Given the description of an element on the screen output the (x, y) to click on. 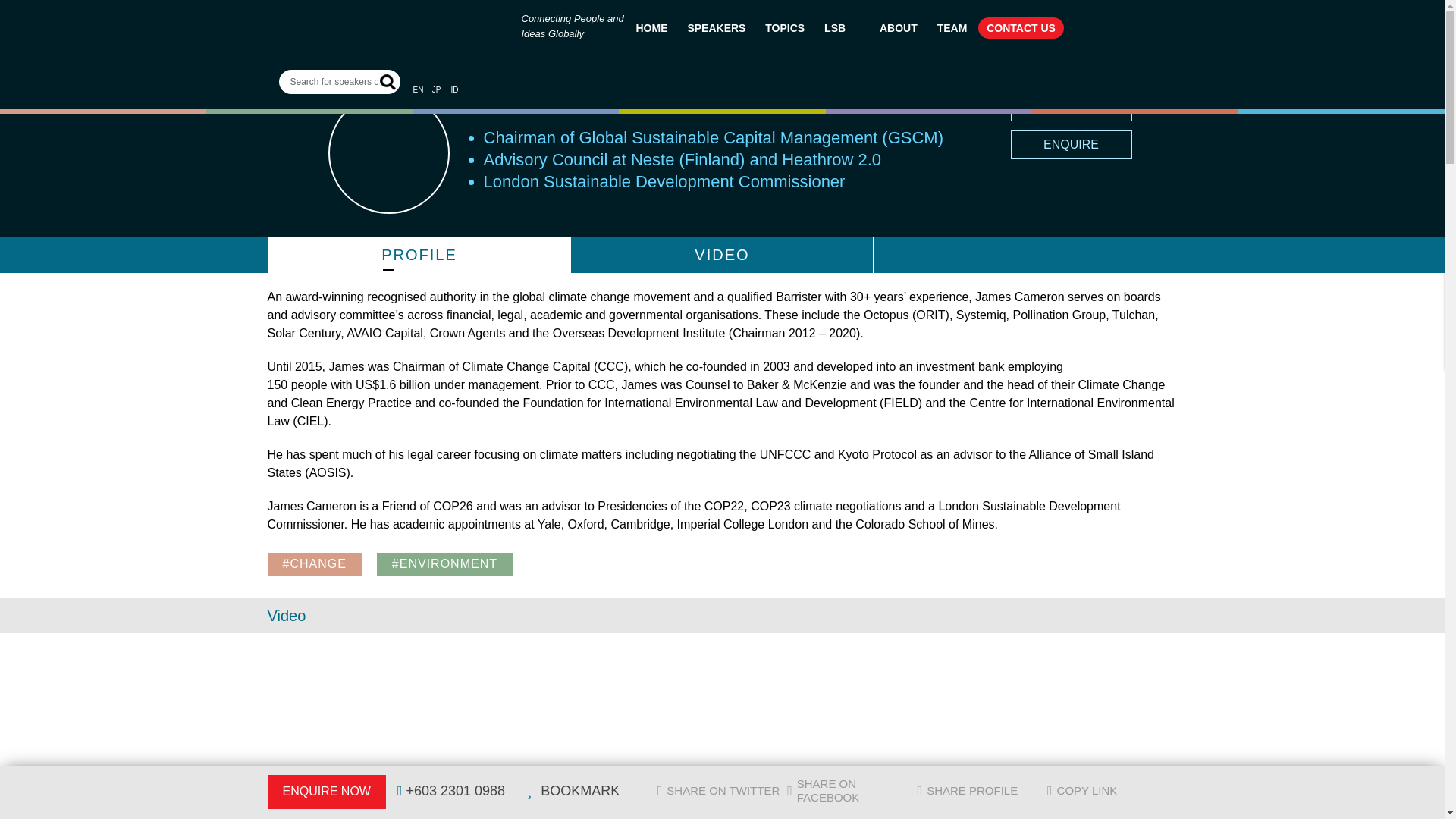
BOOKMARK (1070, 106)
SPEAKERS (716, 27)
ABOUT (898, 27)
TEAM (951, 27)
PROFILE (418, 254)
TOPICS (784, 27)
HOME (652, 27)
CONTACT US (1021, 27)
ENQUIRE (1070, 144)
LSB (841, 27)
VIDEO (721, 254)
